Given the description of an element on the screen output the (x, y) to click on. 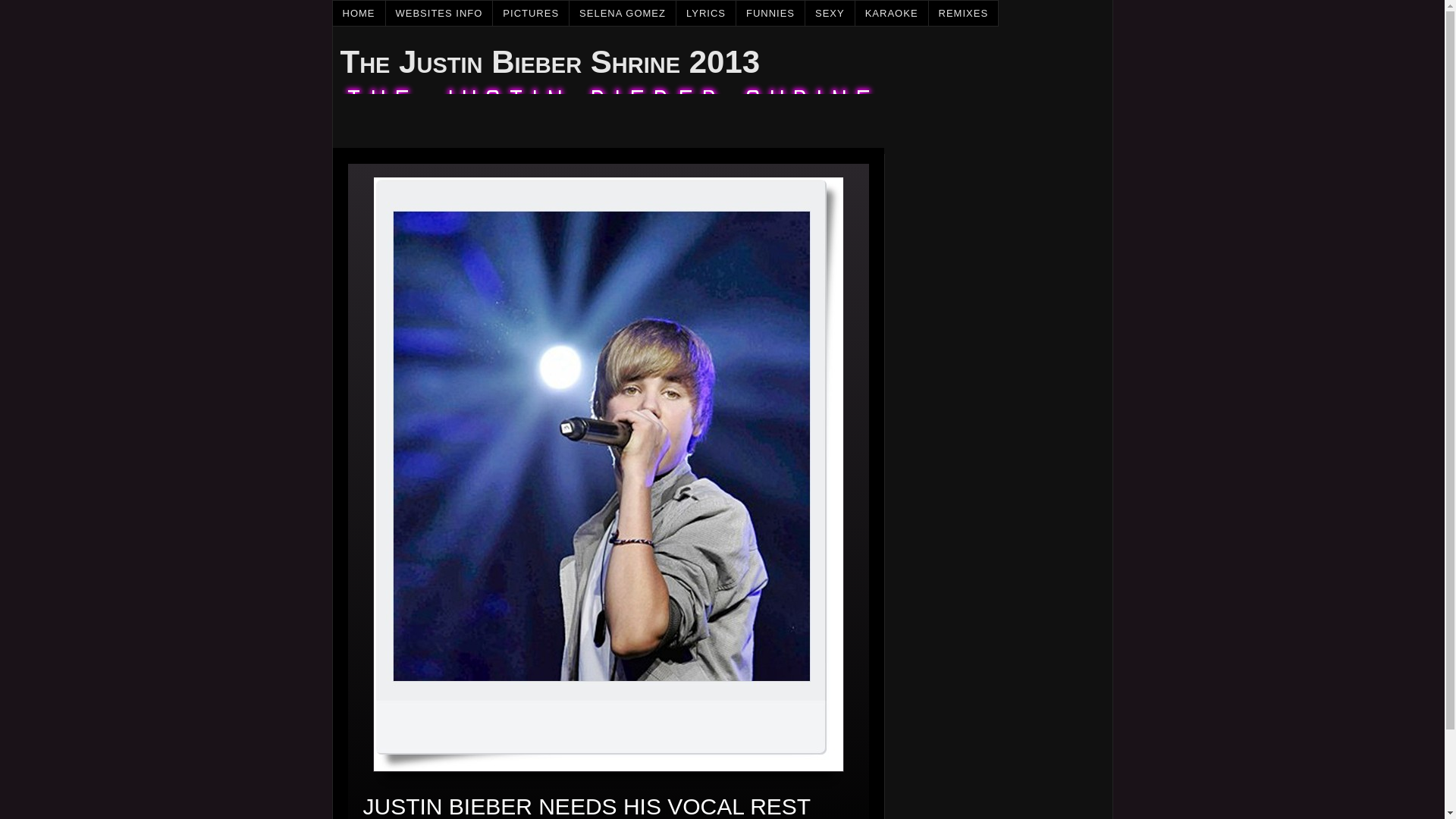
REMIXES (963, 13)
SEXY (830, 13)
FUNNIES (770, 13)
WEBSITES INFO (439, 13)
KARAOKE (892, 13)
SELENA GOMEZ (623, 13)
HOME (358, 13)
PICTURES (531, 13)
LYRICS (706, 13)
